Given the description of an element on the screen output the (x, y) to click on. 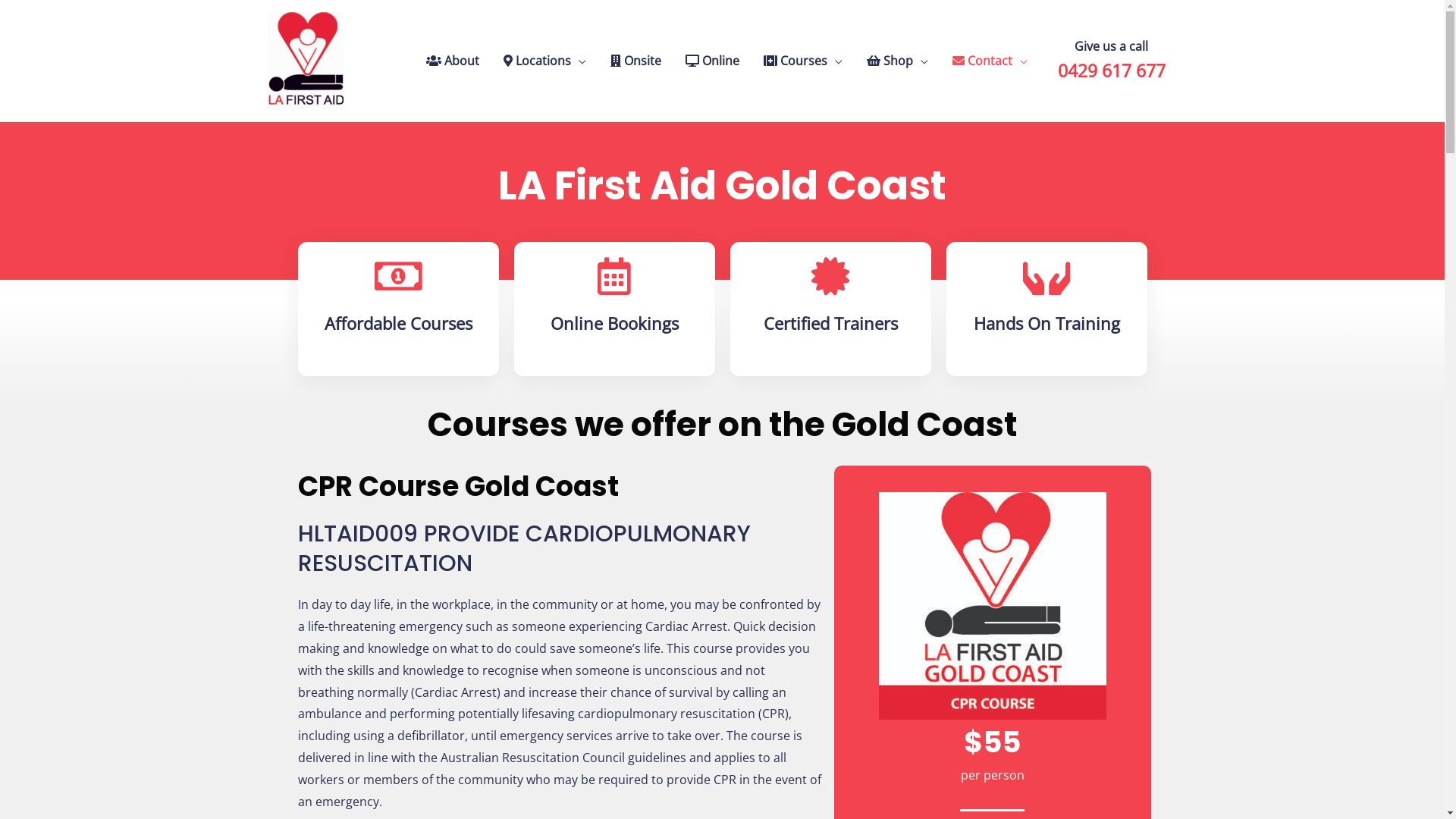
About Element type: text (452, 60)
Locations Element type: text (544, 60)
Shop Element type: text (896, 60)
Online Element type: text (712, 60)
Contact Element type: text (989, 60)
Courses Element type: text (801, 60)
Onsite Element type: text (634, 60)
HLTAID009 PROVIDE CARDIOPULMONARY RESUSCITATION Element type: text (523, 548)
0429 617 677 Element type: text (1110, 72)
